Given the description of an element on the screen output the (x, y) to click on. 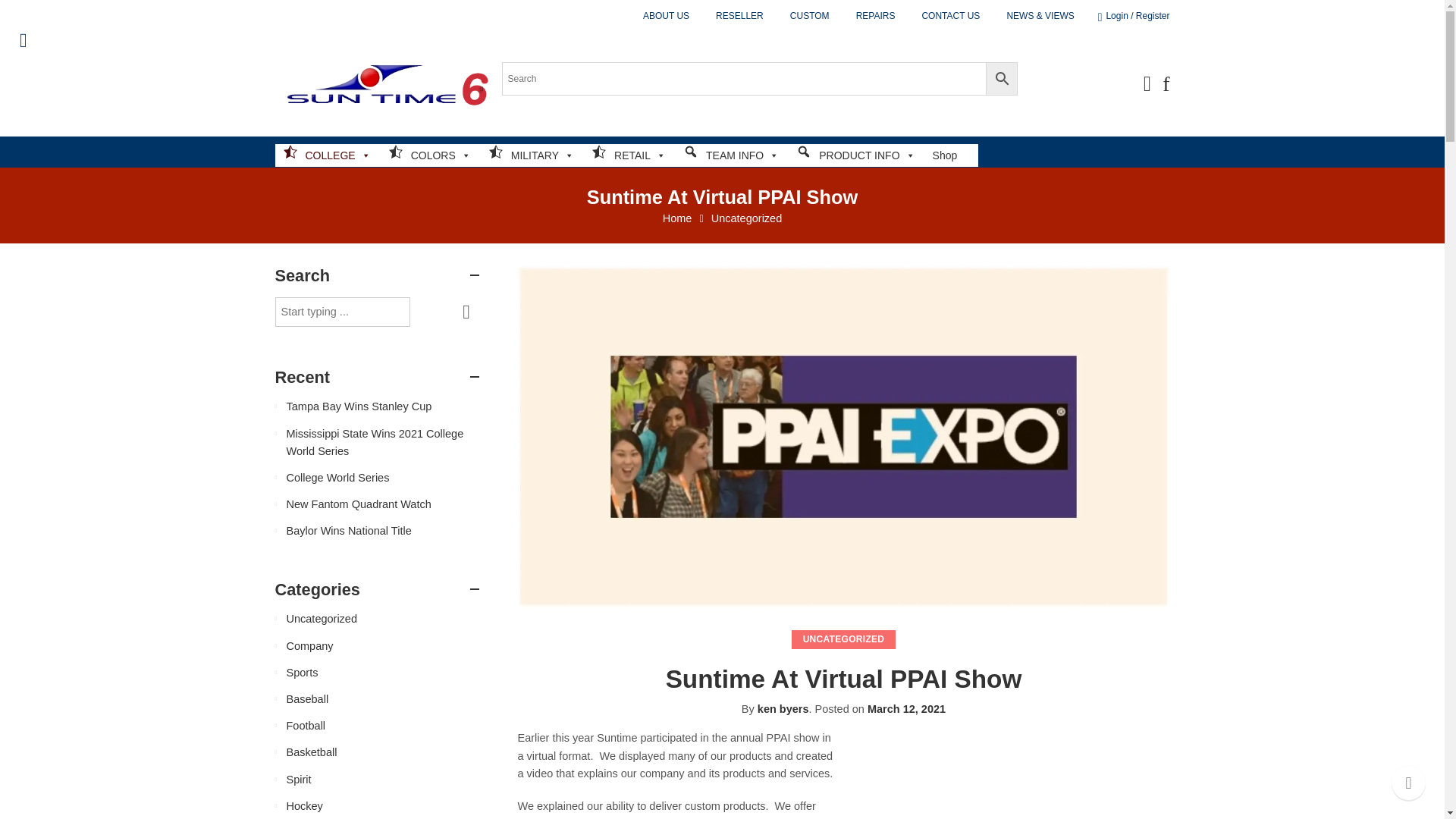
Home (677, 218)
CONTACT US (950, 15)
Sun Time Collegiate Gear - We Make Time For You (385, 84)
CUSTOM (809, 15)
Uncategorized (747, 218)
ABOUT US (665, 15)
CUSTOM (809, 15)
REPAIRS (875, 15)
COLLEGE (326, 155)
RESELLER (739, 15)
